Given the description of an element on the screen output the (x, y) to click on. 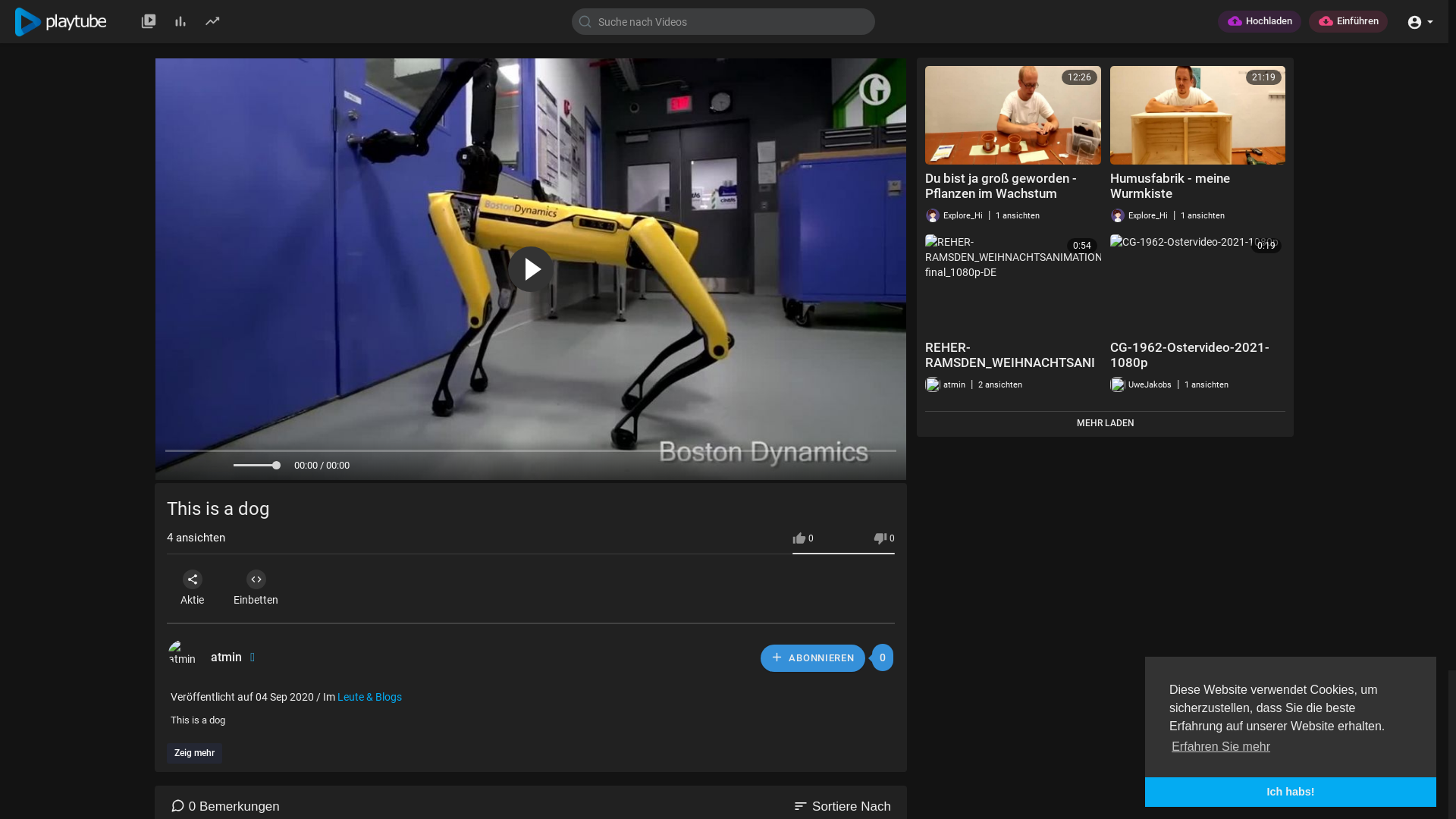
0 Element type: text (802, 537)
REHER-RAMSDEN_WEIHNACHTSANIMATION-final_1080p-DE Element type: text (1010, 362)
Erfahren Sie mehr Element type: text (1220, 746)
MEHR LADEN Element type: text (1105, 423)
0:19 Element type: text (1198, 283)
0:54 Element type: text (1013, 283)
Explore_Hi Element type: text (1138, 214)
Humusfabrik - meine Wurmkiste Element type: text (1170, 185)
0 Element type: text (883, 537)
ABONNIEREN Element type: text (812, 657)
Explore_Hi Element type: text (953, 214)
Ich habs! Element type: text (1290, 791)
UweJakobs Element type: text (1140, 383)
Leute & Blogs Element type: text (369, 696)
Hochladen Element type: text (1259, 21)
atmin Element type: text (945, 383)
CG-1962-Ostervideo-2021-1080p Element type: text (1189, 354)
Aktie Element type: text (191, 588)
21:19 Element type: text (1198, 114)
12:26 Element type: text (1013, 114)
atmin Element type: text (235, 656)
Einbetten Element type: text (255, 588)
